Given the description of an element on the screen output the (x, y) to click on. 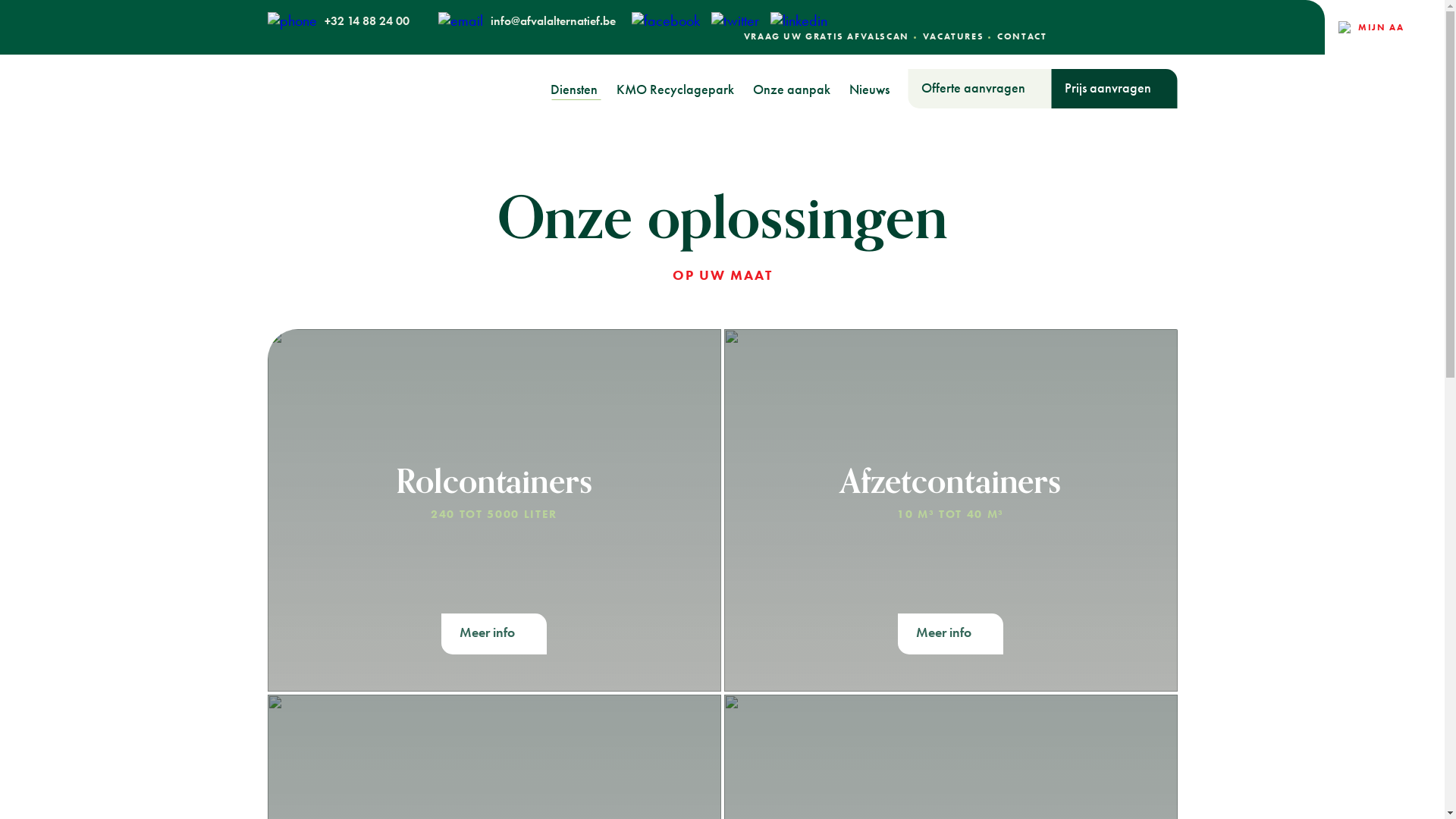
VRAAG UW GRATIS AFVALSCAN Element type: text (826, 36)
Prijs aanvragen Element type: text (1113, 88)
Offerte aanvragen Element type: text (979, 88)
KMO Recyclagepark Element type: text (674, 88)
VACATURES Element type: text (952, 36)
MIJN AA Element type: text (1367, 27)
Rolcontainers
240 TOT 5000 LITER
Meer info Element type: text (493, 510)
+32 14 88 24 00 Element type: text (337, 20)
Onze aanpak Element type: text (790, 88)
info@afvalalternatief.be Element type: text (526, 20)
Diensten Element type: text (573, 88)
Nieuws Element type: text (869, 88)
CONTACT Element type: text (1021, 36)
